Given the description of an element on the screen output the (x, y) to click on. 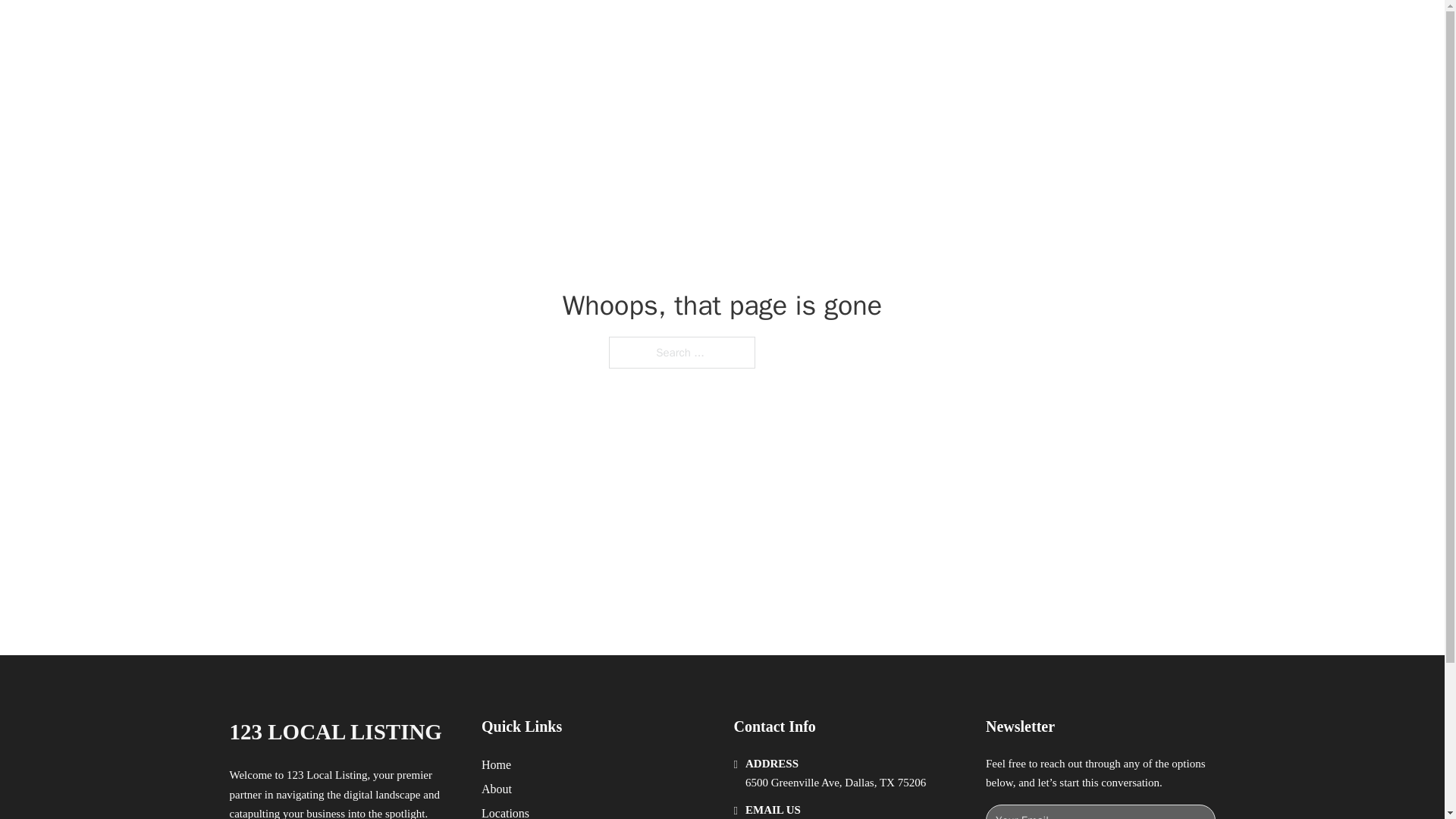
Home (496, 764)
About (496, 788)
HOME (919, 29)
123 LOCAL LISTING (408, 28)
123 LOCAL LISTING (334, 732)
LOCATIONS (990, 29)
Locations (505, 811)
